Given the description of an element on the screen output the (x, y) to click on. 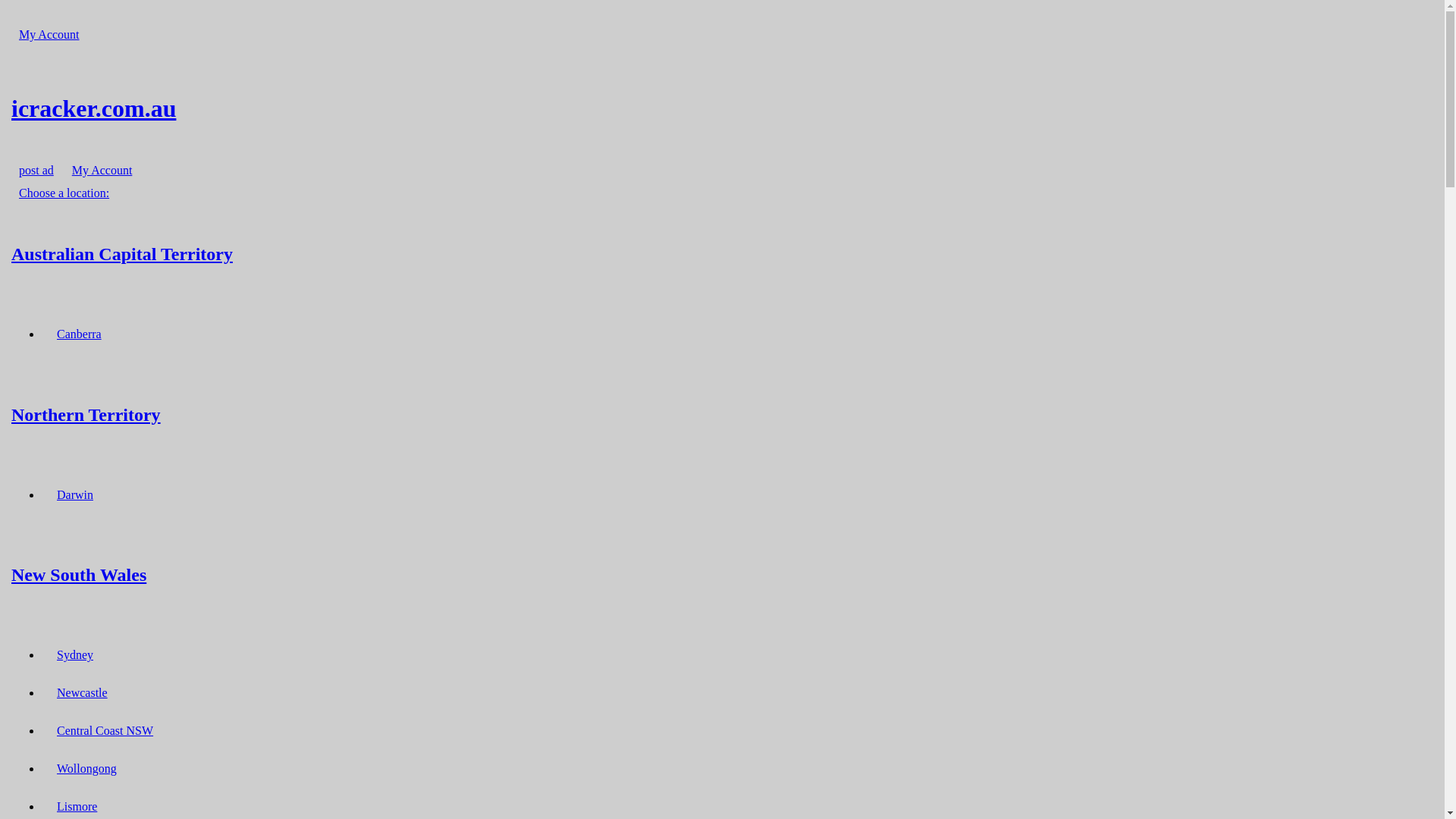
Wollongong Element type: text (86, 768)
icracker.com.au Element type: text (722, 108)
My Account Element type: text (49, 34)
Darwin Element type: text (74, 494)
My Account Element type: text (102, 170)
Northern Territory Element type: text (722, 414)
Australian Capital Territory Element type: text (722, 253)
Newcastle Element type: text (82, 692)
Sydney Element type: text (74, 654)
post ad Element type: text (36, 170)
Central Coast NSW Element type: text (104, 730)
Canberra Element type: text (79, 334)
Choose a location: Element type: text (63, 192)
New South Wales Element type: text (722, 575)
